Given the description of an element on the screen output the (x, y) to click on. 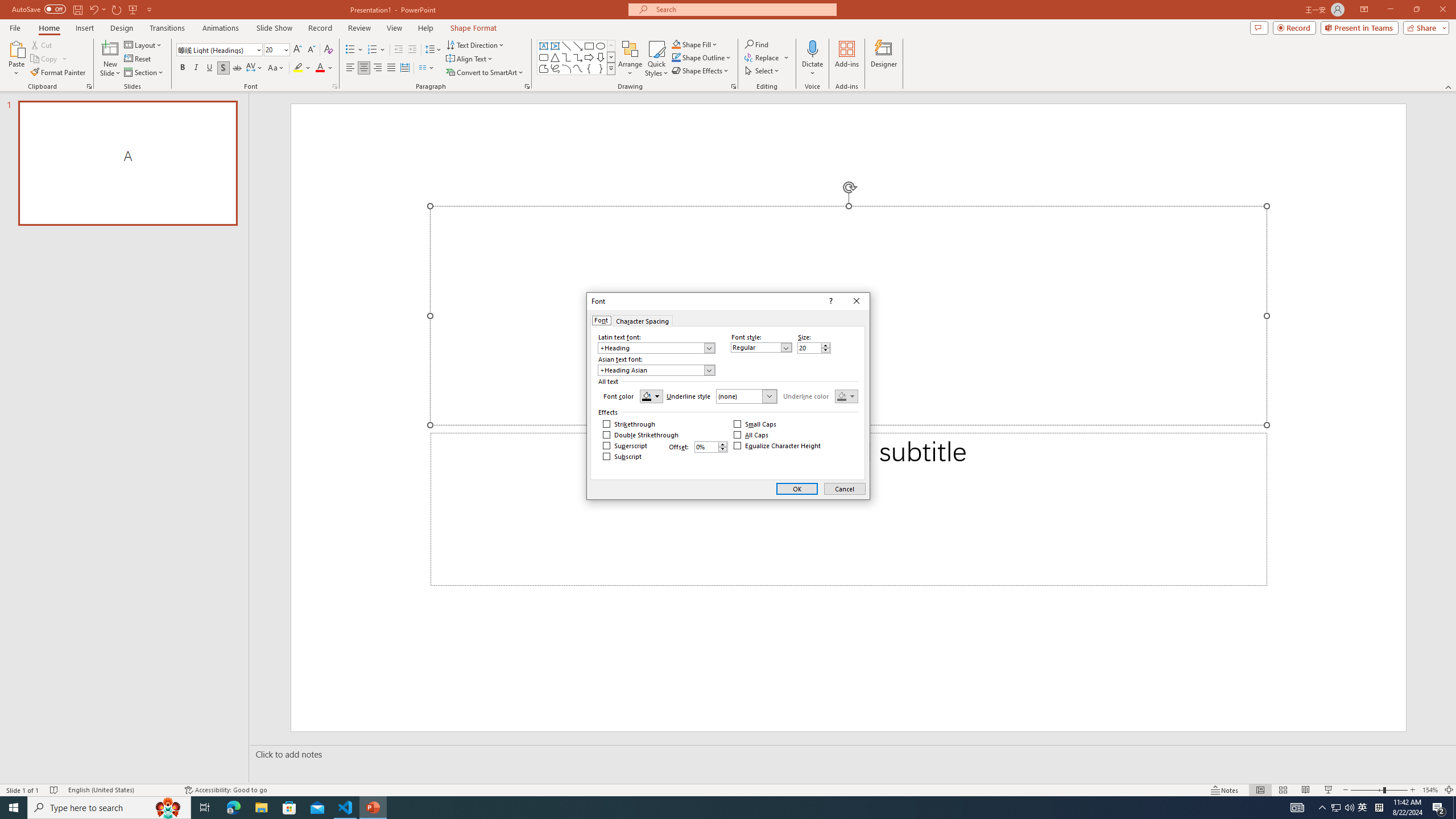
Latin text font (656, 347)
Font color RGB(0, 0, 0) (651, 396)
